Given the description of an element on the screen output the (x, y) to click on. 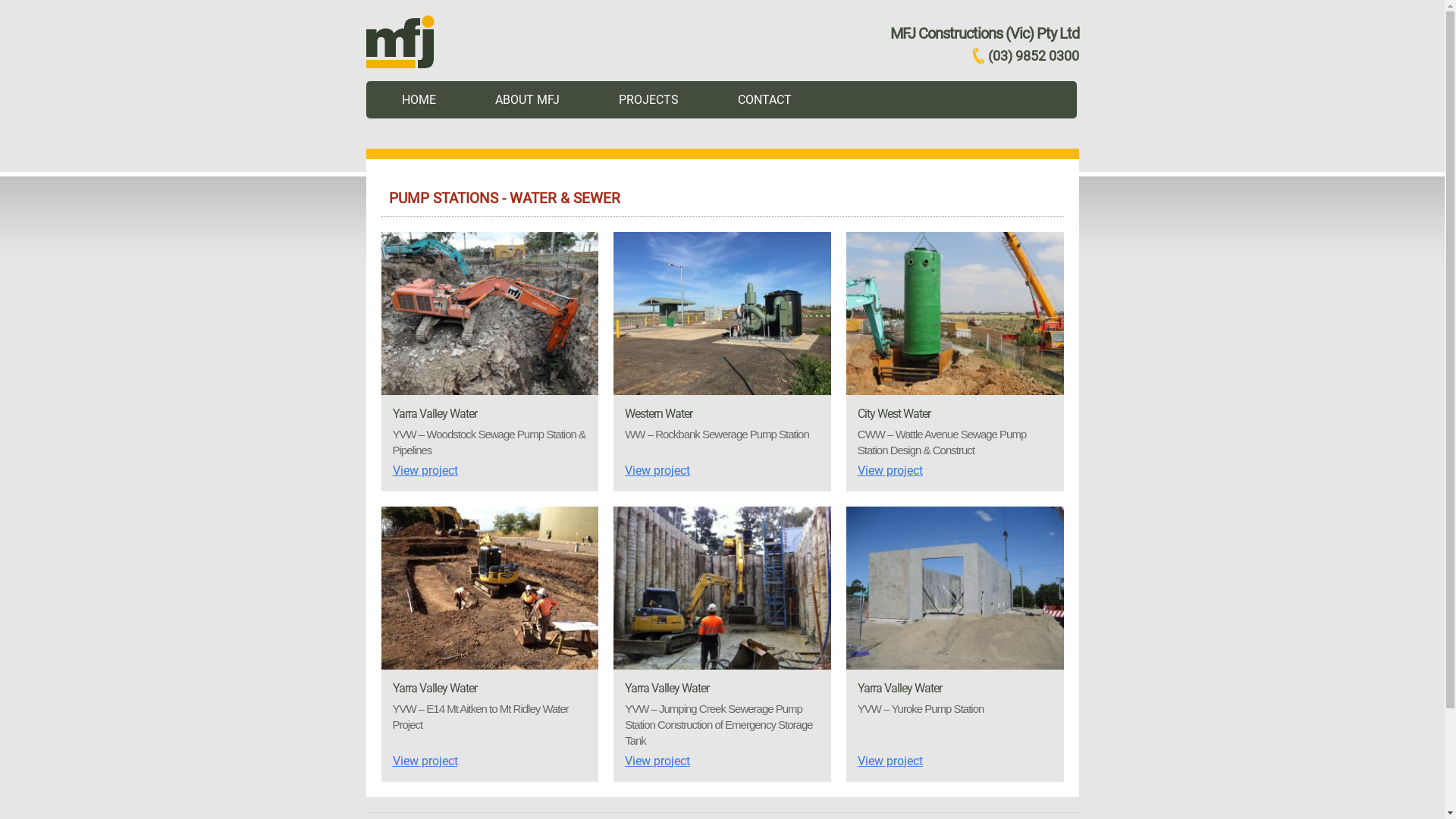
View project Element type: text (721, 761)
View project Element type: text (721, 470)
PROJECTS Element type: text (647, 99)
View project Element type: text (489, 470)
(03) 9852 0300 Element type: text (1025, 55)
View project Element type: text (489, 761)
View project Element type: text (954, 470)
ABOUT MFJ Element type: text (527, 99)
HOME Element type: text (417, 99)
CONTACT Element type: text (764, 99)
View project Element type: text (954, 761)
